Given the description of an element on the screen output the (x, y) to click on. 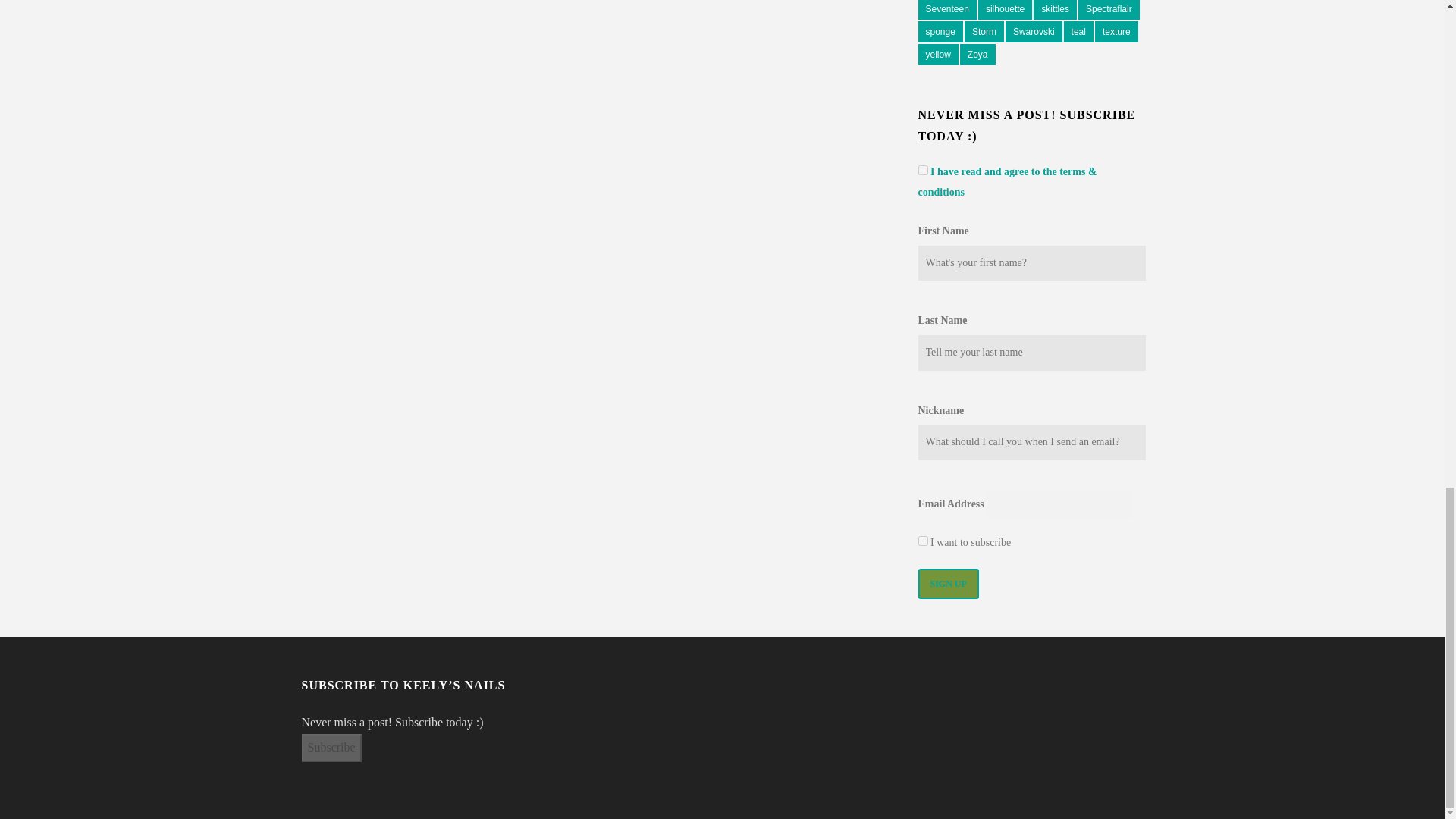
status (922, 541)
Sign up (947, 583)
1 (922, 170)
